Given the description of an element on the screen output the (x, y) to click on. 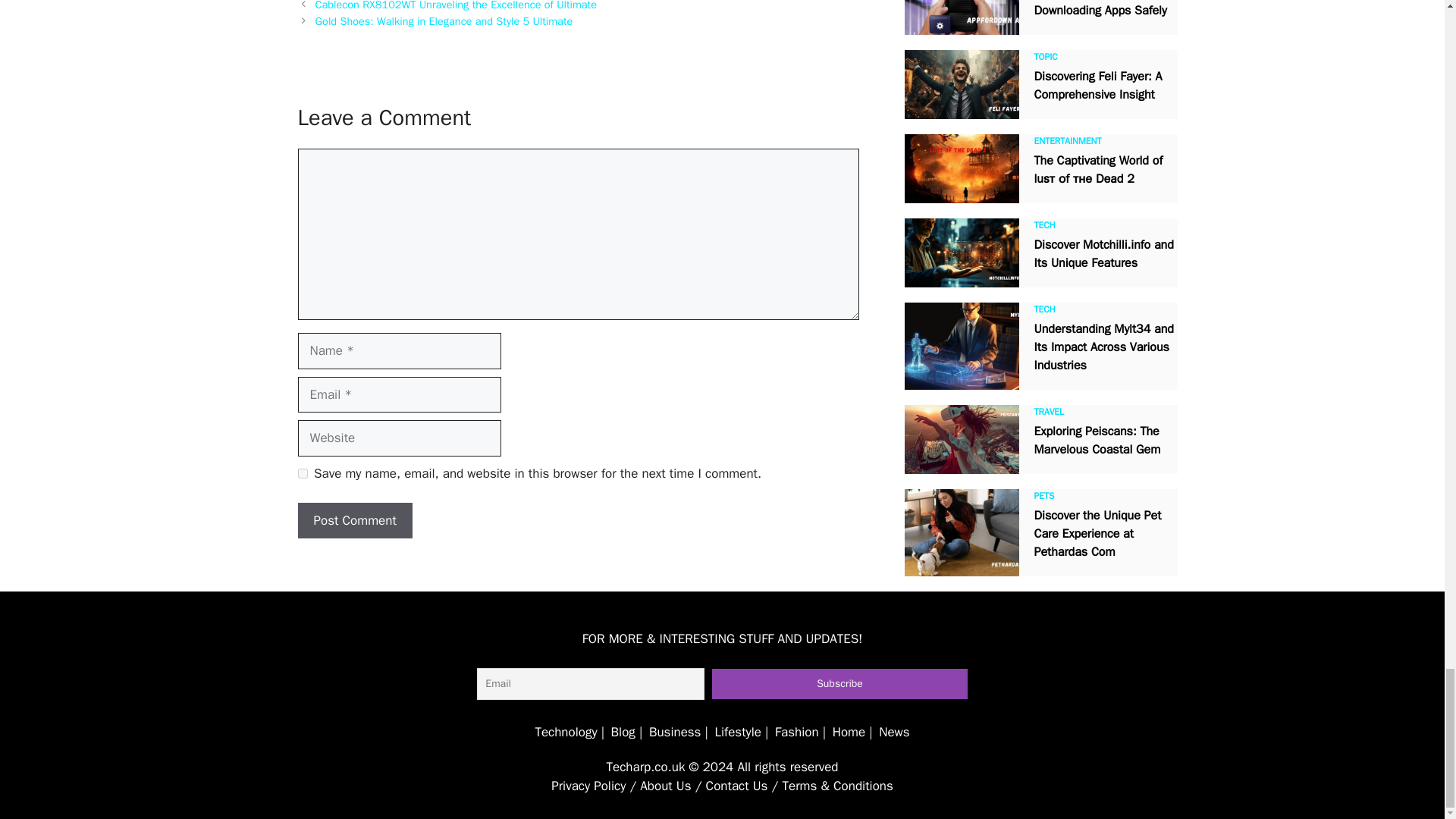
Subscribe (838, 684)
yes (302, 473)
Cablecon RX8102WT Unraveling the Excellence of Ultimate (455, 5)
Gold Shoes: Walking in Elegance and Style 5 Ultimate (444, 20)
Post Comment (354, 520)
